Given the description of an element on the screen output the (x, y) to click on. 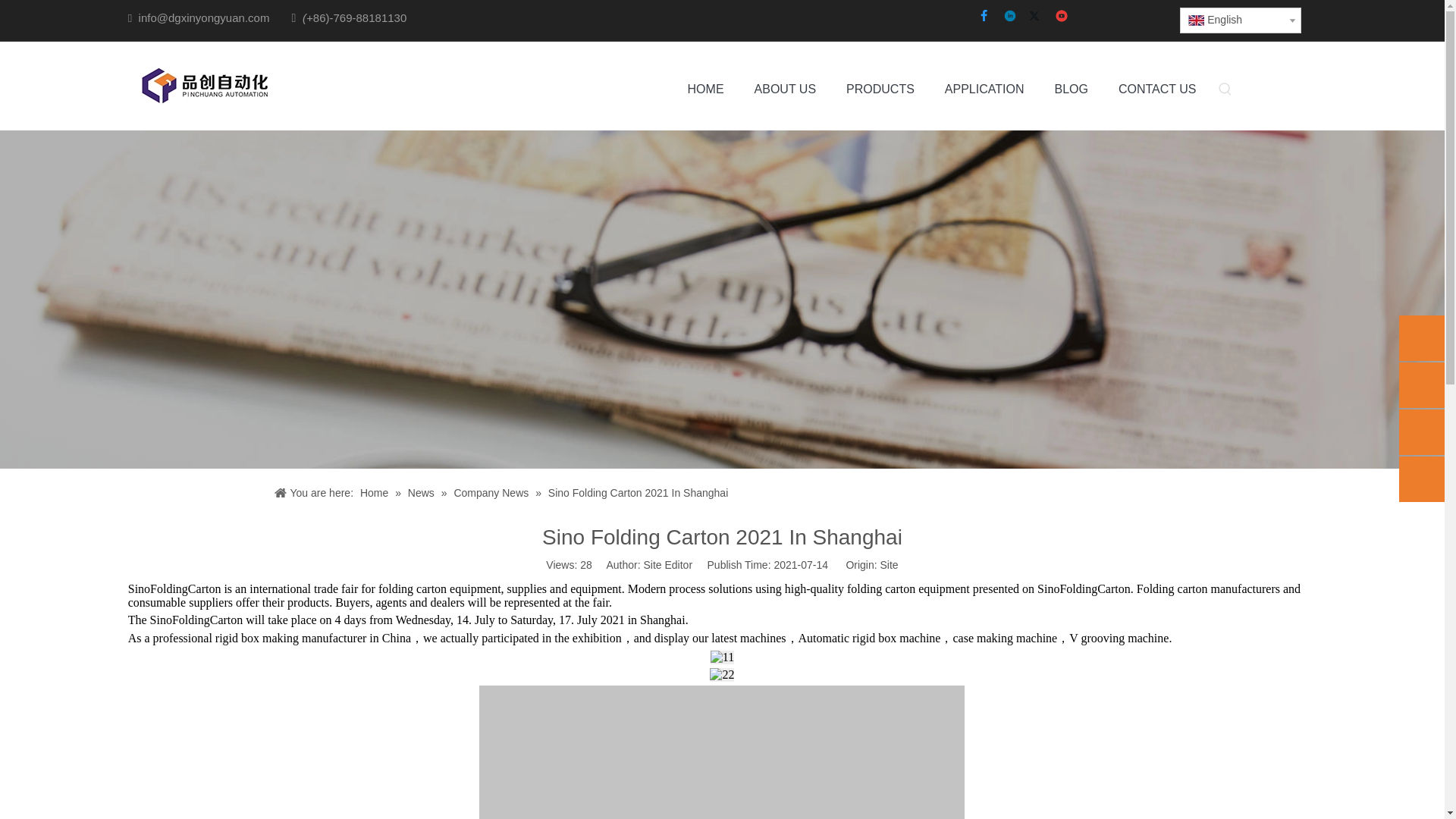
Youtube (1061, 16)
Facebook (984, 16)
Linkedin (1010, 16)
ABOUT US (785, 89)
logo (203, 85)
BLOG (1070, 89)
APPLICATION (984, 89)
PRODUCTS (879, 89)
HOME (705, 89)
Twitter (1036, 16)
